Given the description of an element on the screen output the (x, y) to click on. 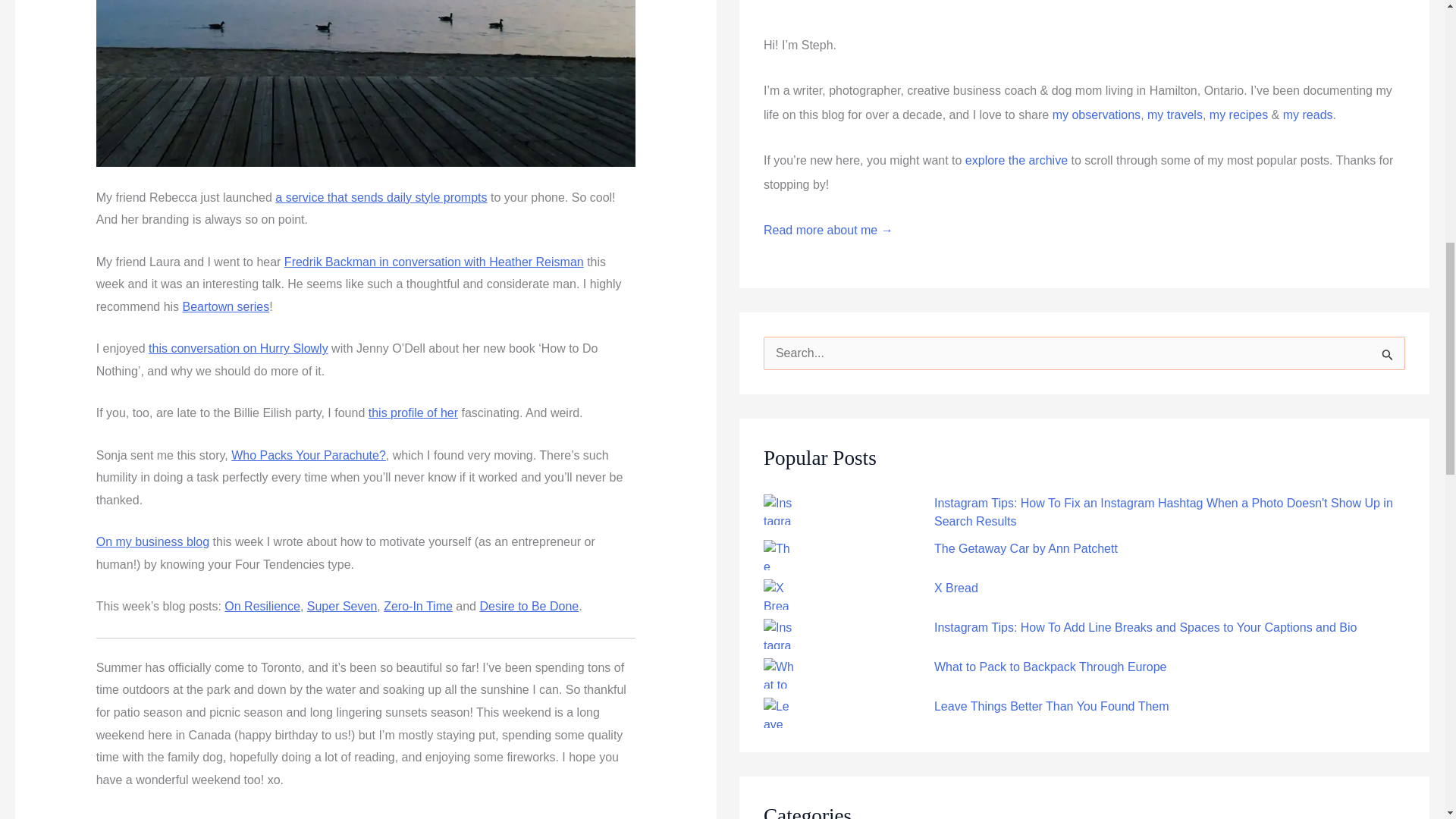
Beartown series (226, 306)
a service that sends daily style prompts (380, 196)
The Getaway Car by Ann Patchett (1026, 548)
this conversation on Hurry Slowly (238, 348)
X Bread (956, 587)
Fredrik Backman in conversation with Heather Reisman (433, 261)
What to Pack to Backpack Through Europe (1050, 666)
